Given the description of an element on the screen output the (x, y) to click on. 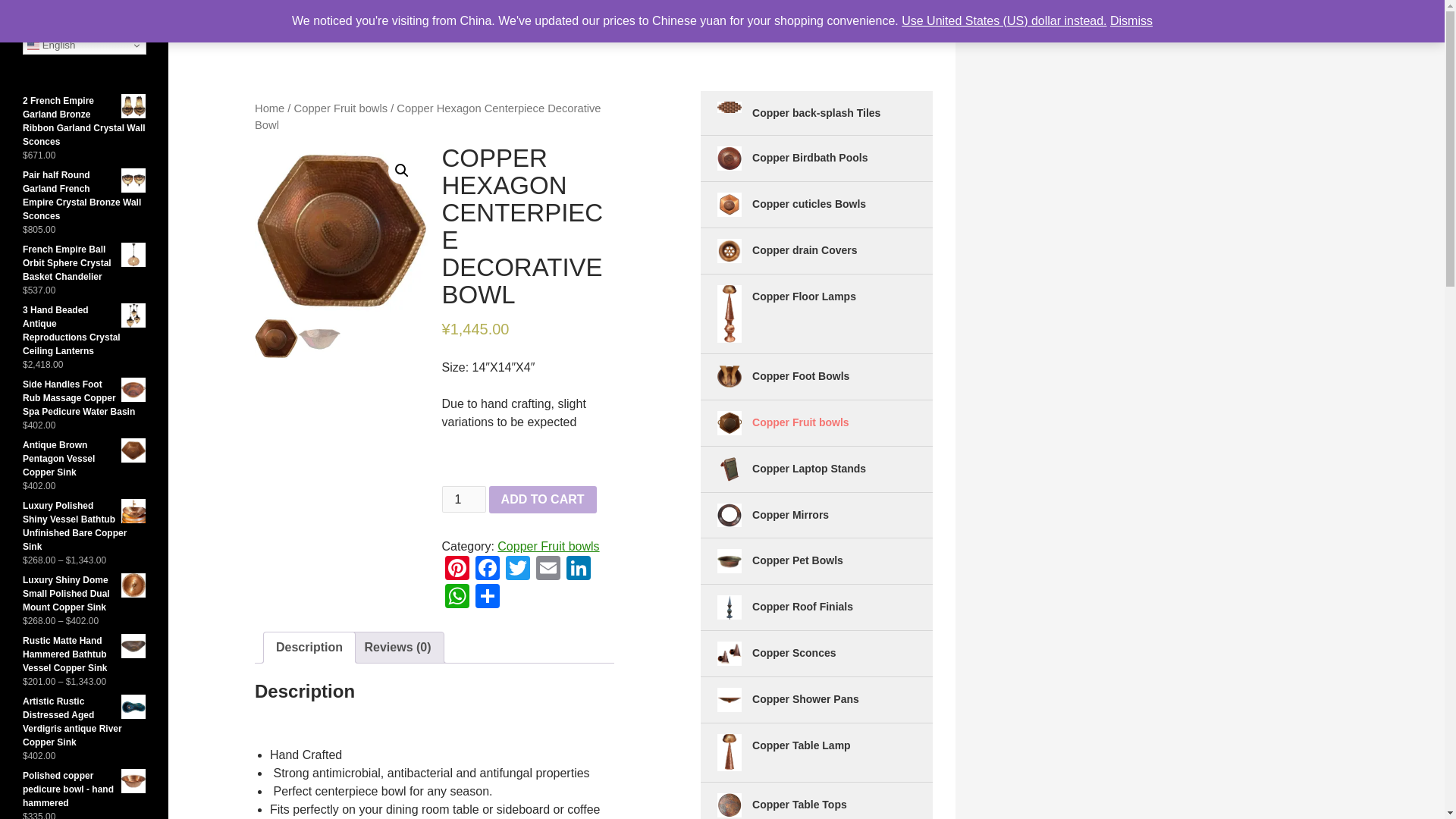
Copper Fruit bowls (341, 108)
CART (389, 18)
MY ACCOUNT (636, 18)
CHECKOUT (446, 18)
Copper back-splash Tiles (729, 107)
BLOG (347, 18)
Email (547, 569)
Twitter (517, 569)
Facebook (486, 569)
LinkedIn (577, 569)
HOME (576, 18)
Pinterest (456, 569)
Email (547, 569)
Home (268, 108)
543a (341, 230)
